Given the description of an element on the screen output the (x, y) to click on. 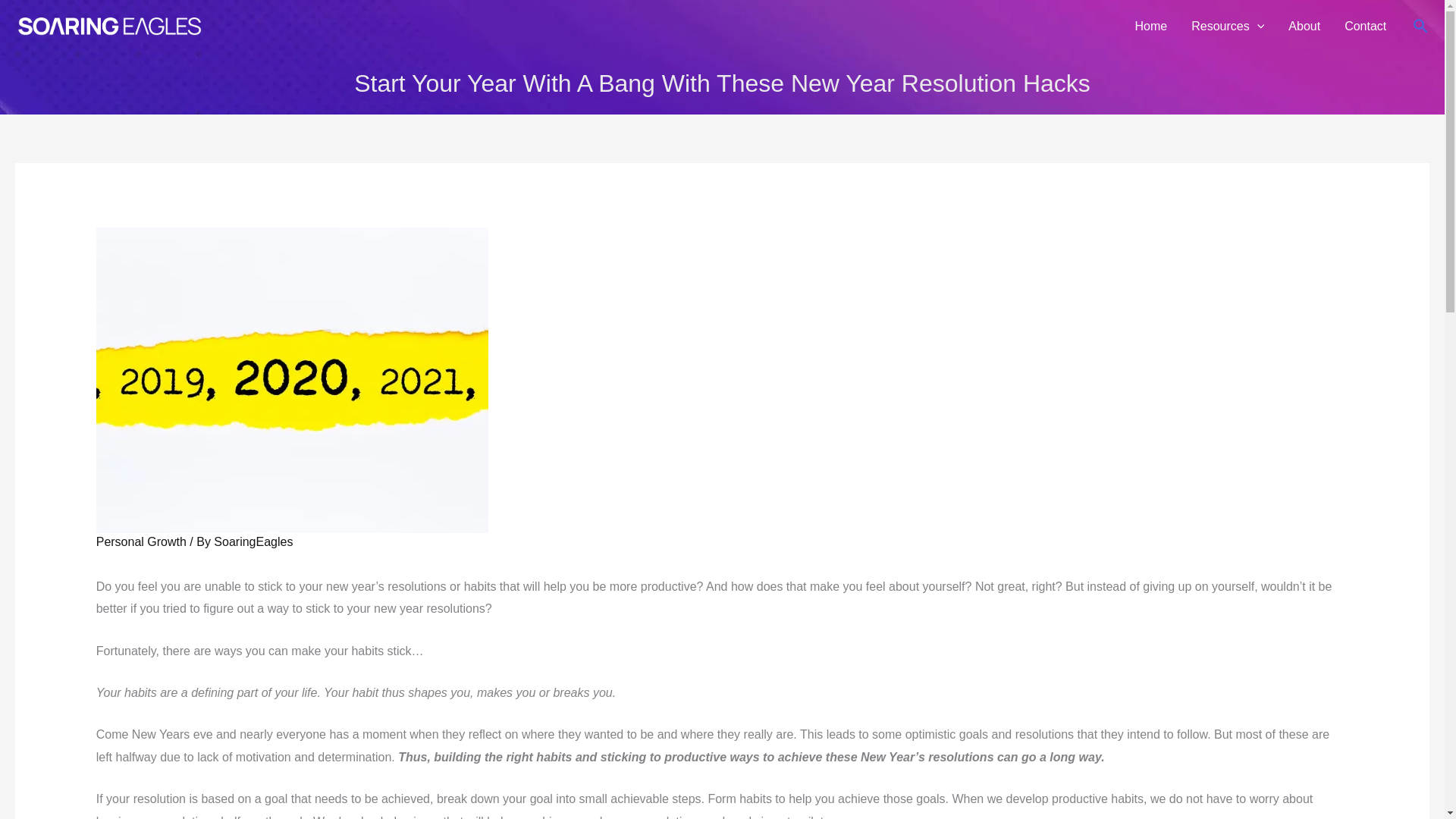
Contact (1364, 26)
About (1304, 26)
Personal Growth (141, 541)
Home (1150, 26)
View all posts by SoaringEagles (253, 541)
SoaringEagles (253, 541)
Resources (1227, 26)
